Given the description of an element on the screen output the (x, y) to click on. 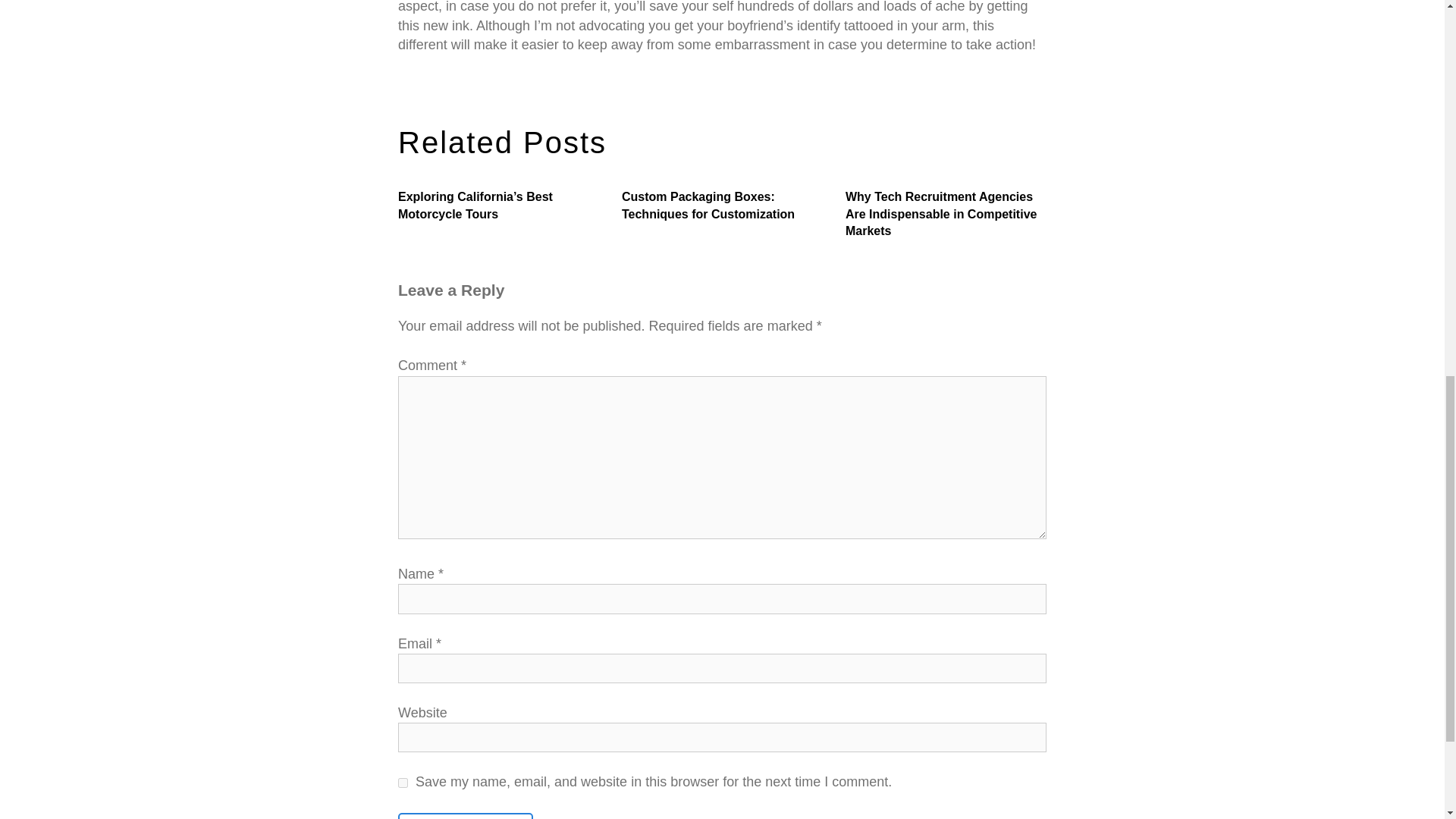
Post Comment (464, 816)
yes (402, 782)
Custom Packaging Boxes: Techniques for Customization (721, 205)
Custom Packaging Boxes: Techniques for Customization (721, 205)
Post Comment (464, 816)
